Given the description of an element on the screen output the (x, y) to click on. 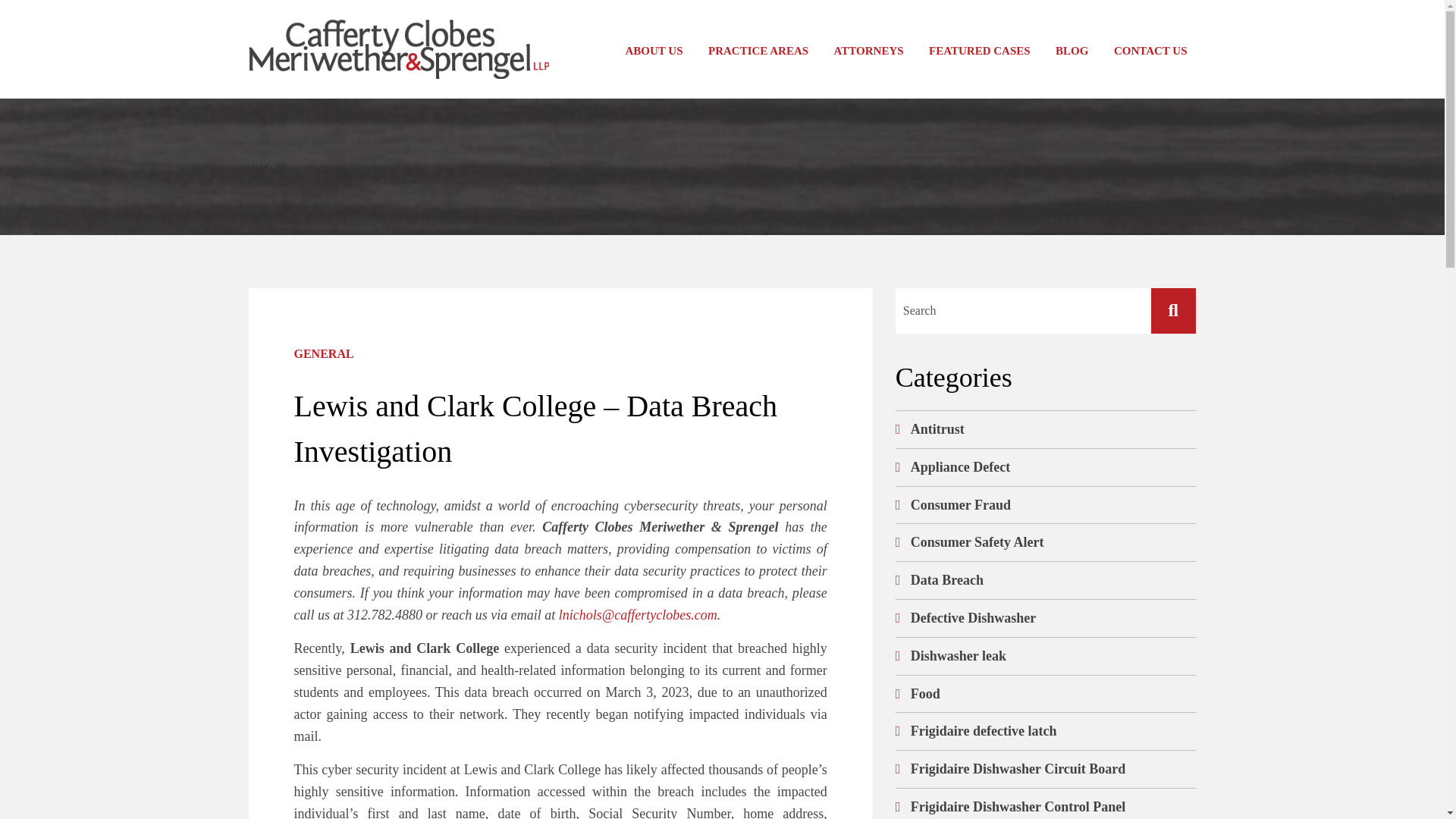
ABOUT US (653, 50)
Frigidaire defective latch (984, 730)
Appliance Defect (960, 467)
BLOG (1071, 50)
Food (925, 693)
Dishwasher leak (958, 655)
Antitrust (937, 428)
ATTORNEYS (868, 50)
Frigidaire Dishwasher Control Panel (1018, 806)
GENERAL (560, 353)
Consumer Fraud (960, 504)
Defective Dishwasher (973, 617)
CONTACT US (1150, 50)
FEATURED CASES (979, 50)
Frigidaire Dishwasher Circuit Board (1018, 768)
